Given the description of an element on the screen output the (x, y) to click on. 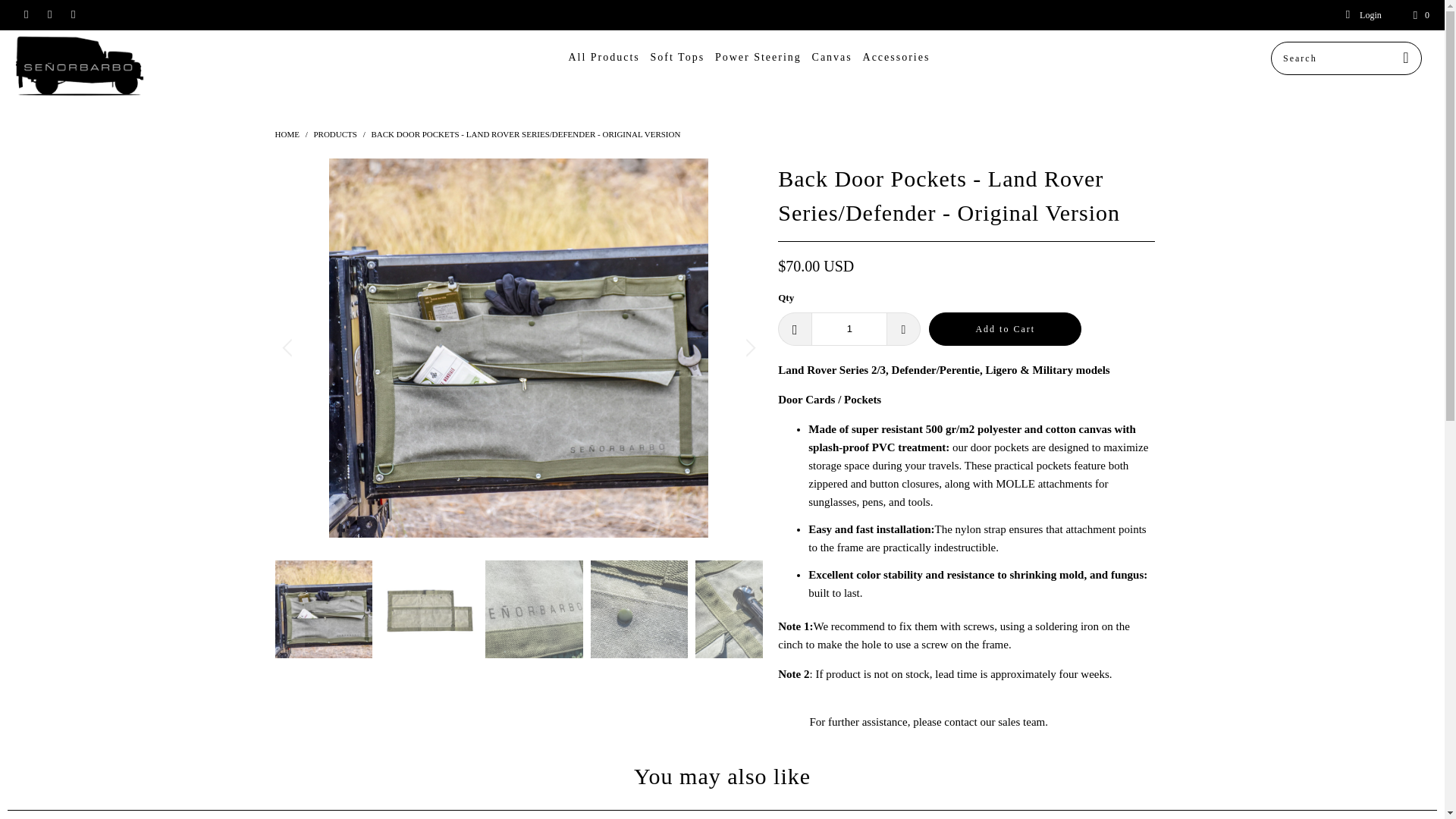
Soft Tops (677, 57)
1 (848, 328)
Accessories (896, 57)
senorbarbo on YouTube (48, 14)
HOME (286, 133)
senorbarbo on Facebook (25, 14)
Power Steering (758, 57)
Canvas (831, 57)
Products (334, 133)
senorbarbo on Instagram (71, 14)
